Given the description of an element on the screen output the (x, y) to click on. 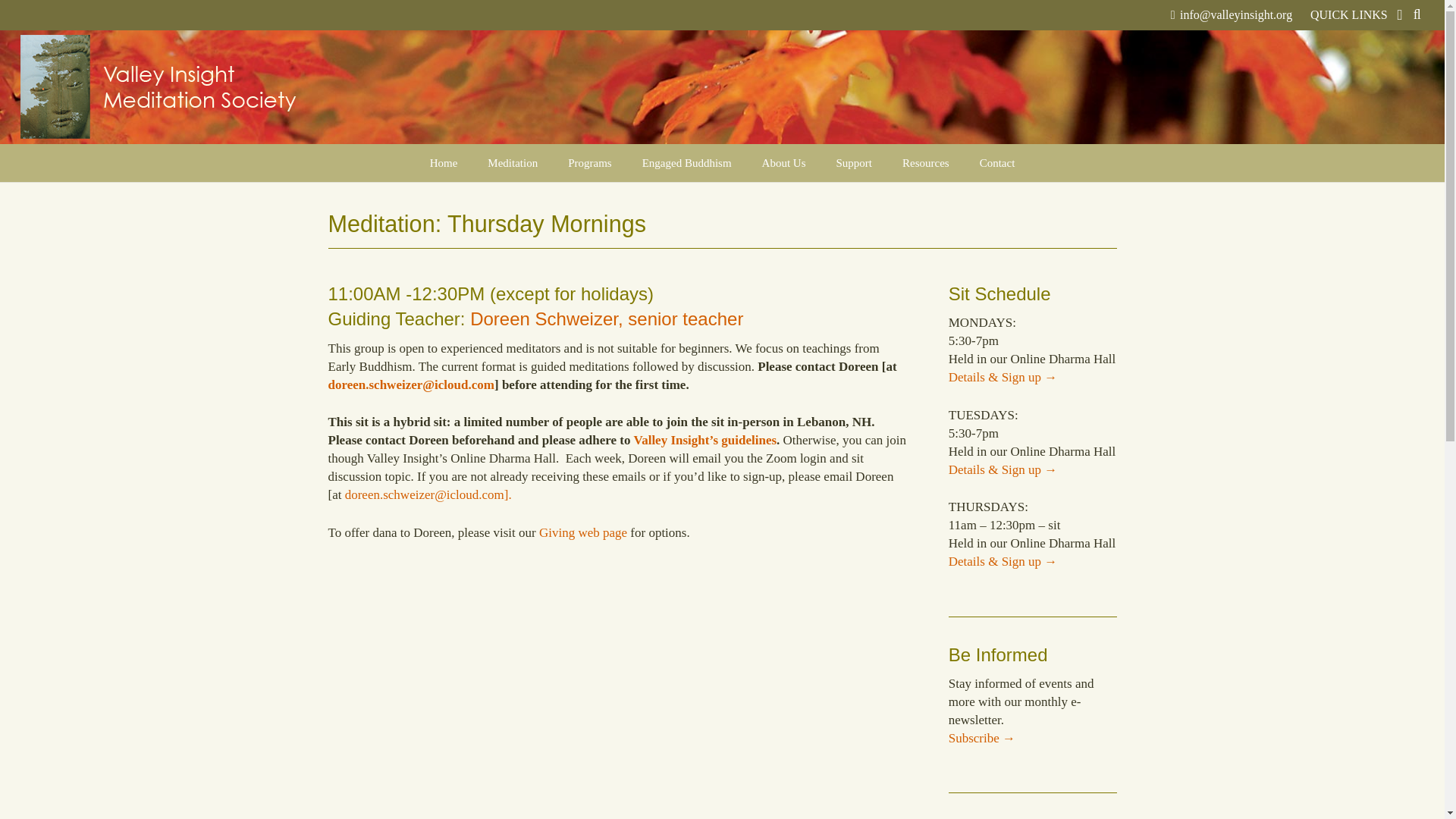
Programs (590, 162)
QUICK LINKS (1355, 15)
Contact (996, 162)
Home (443, 162)
Engaged Buddhism (686, 162)
Support (853, 162)
Resources (924, 162)
About Us (783, 162)
Meditation (512, 162)
Doreen Schweizer, senior teacher (606, 318)
